Given the description of an element on the screen output the (x, y) to click on. 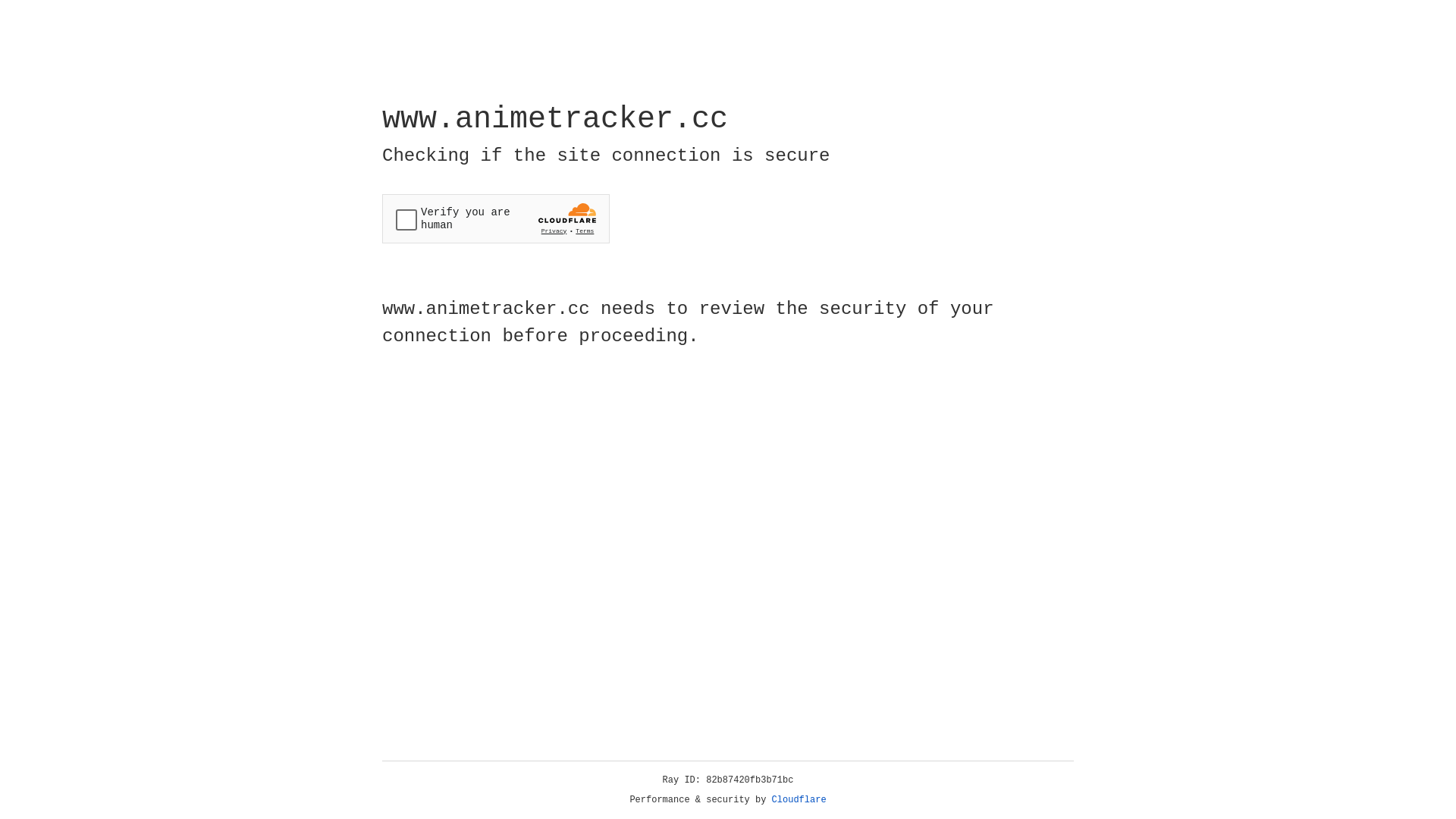
Cloudflare Element type: text (798, 799)
Widget containing a Cloudflare security challenge Element type: hover (495, 218)
